Given the description of an element on the screen output the (x, y) to click on. 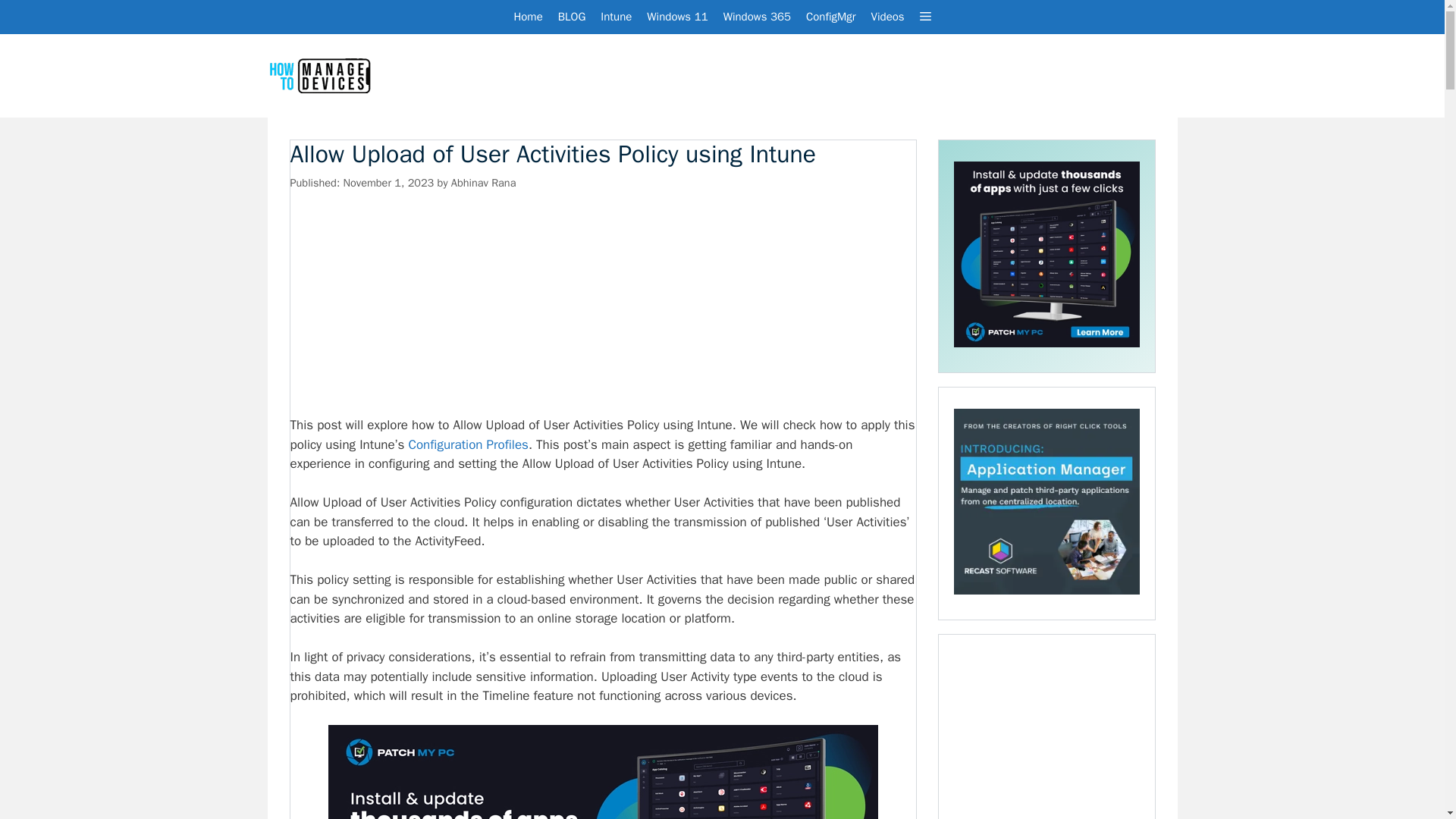
Microsoft Endpoint Manager Intune (615, 17)
Abhinav Rana (483, 182)
Videos (887, 17)
Configuration Profiles (467, 444)
Intune (615, 17)
Advertisement (602, 303)
Home (527, 17)
BLOG (572, 17)
ConfigMgr (830, 17)
View all posts by Abhinav Rana (483, 182)
BLOG (572, 17)
Microsoft Endpoint Manager Configuration Manager (830, 17)
Windows 11 (676, 17)
Windows 365 (756, 17)
